Given the description of an element on the screen output the (x, y) to click on. 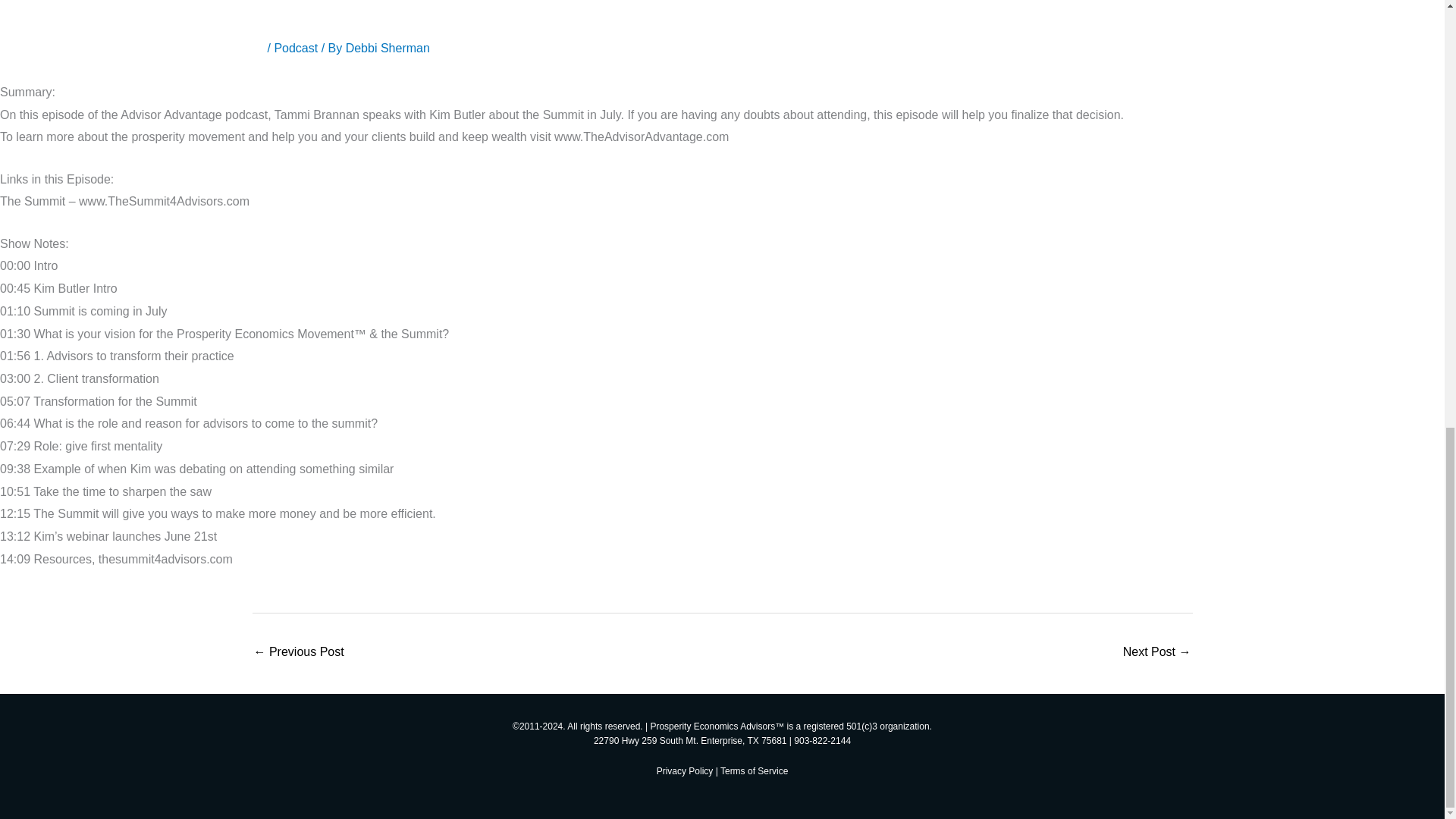
Terms of Service (753, 770)
Privacy Policy (684, 770)
Podcast (295, 47)
Debbi Sherman (387, 47)
View all posts by Debbi Sherman (387, 47)
How to Find Your Ideal Clients- Bruce Wehner - Episode 012 (298, 653)
